Given the description of an element on the screen output the (x, y) to click on. 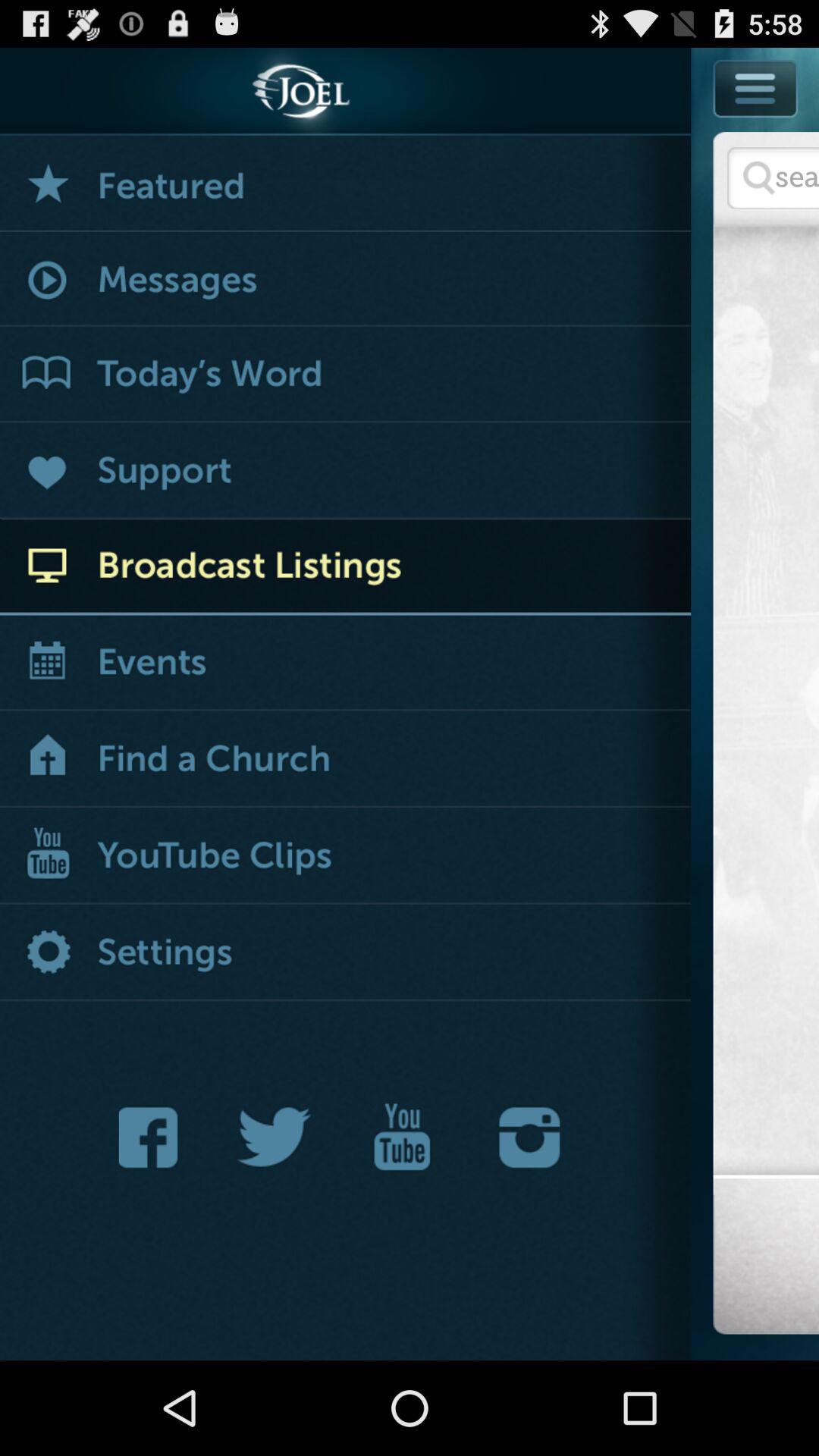
go to facebook page (152, 1137)
